Given the description of an element on the screen output the (x, y) to click on. 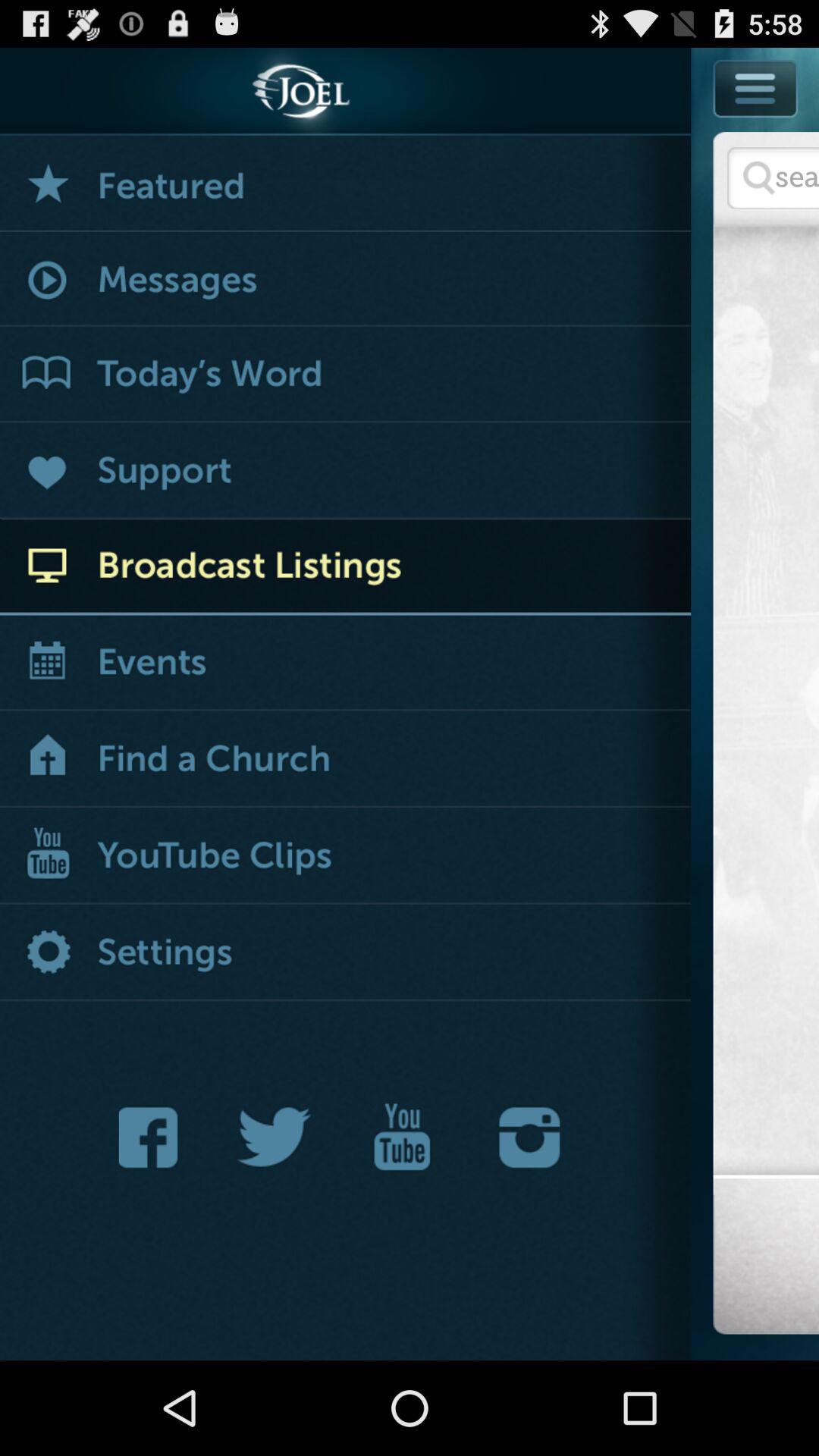
go to facebook page (152, 1137)
